Given the description of an element on the screen output the (x, y) to click on. 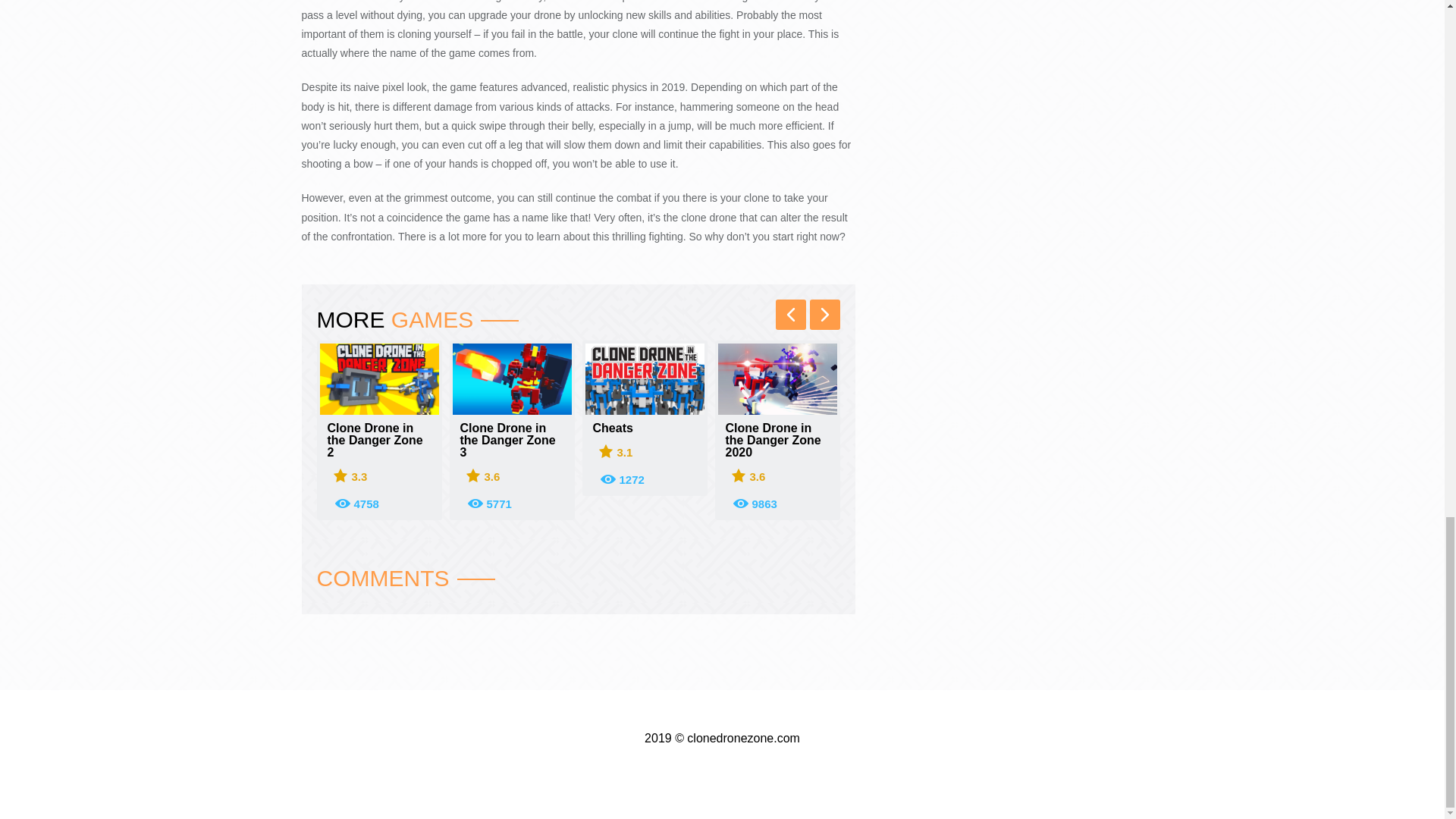
LiveInternet (721, 761)
Clone Drone in the Danger Zone 2 (378, 440)
Clone Drone in the Danger Zone 2020 (776, 440)
Clone Drone in the Danger Zone 3 (511, 440)
Cheats (644, 428)
